Given the description of an element on the screen output the (x, y) to click on. 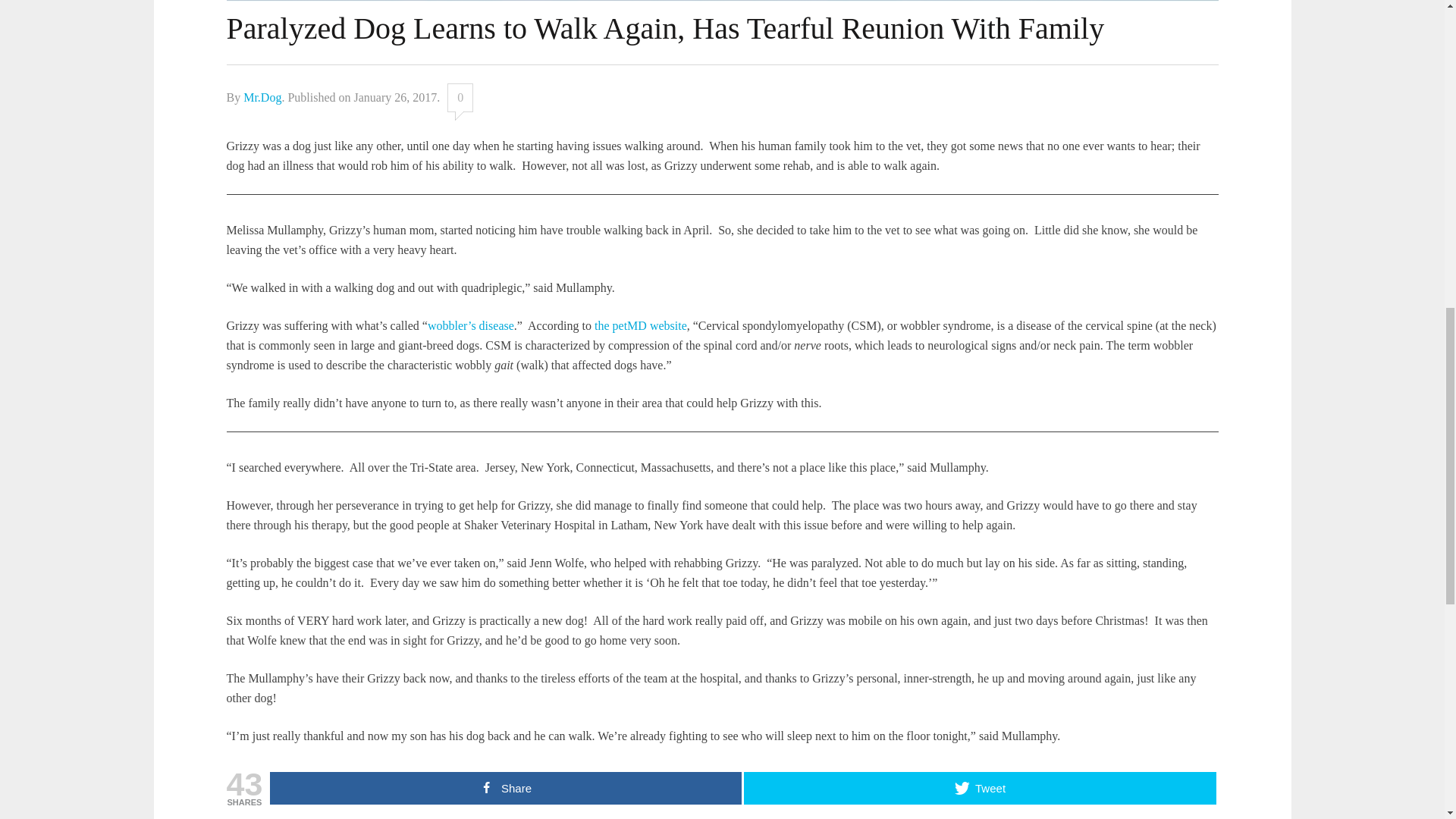
Posts by Mr.Dog (262, 97)
Mr.Dog (262, 97)
Share (505, 788)
Tweet (979, 788)
the petMD website (640, 325)
0 (459, 97)
